Given the description of an element on the screen output the (x, y) to click on. 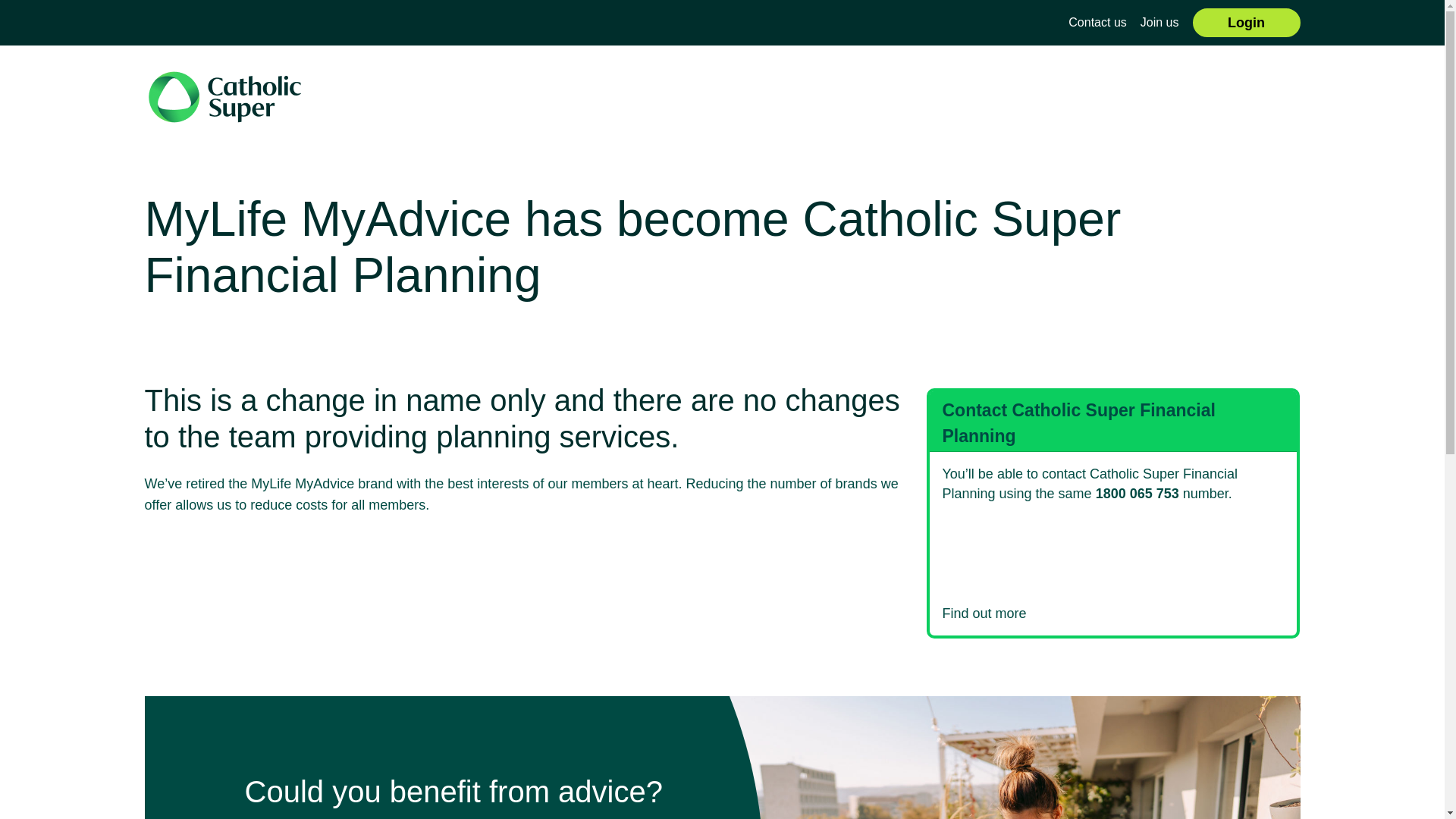
Find out more Element type: text (1112, 613)
Contact us Element type: text (1097, 21)
Join us Element type: text (1159, 21)
Login Element type: text (1245, 22)
